Given the description of an element on the screen output the (x, y) to click on. 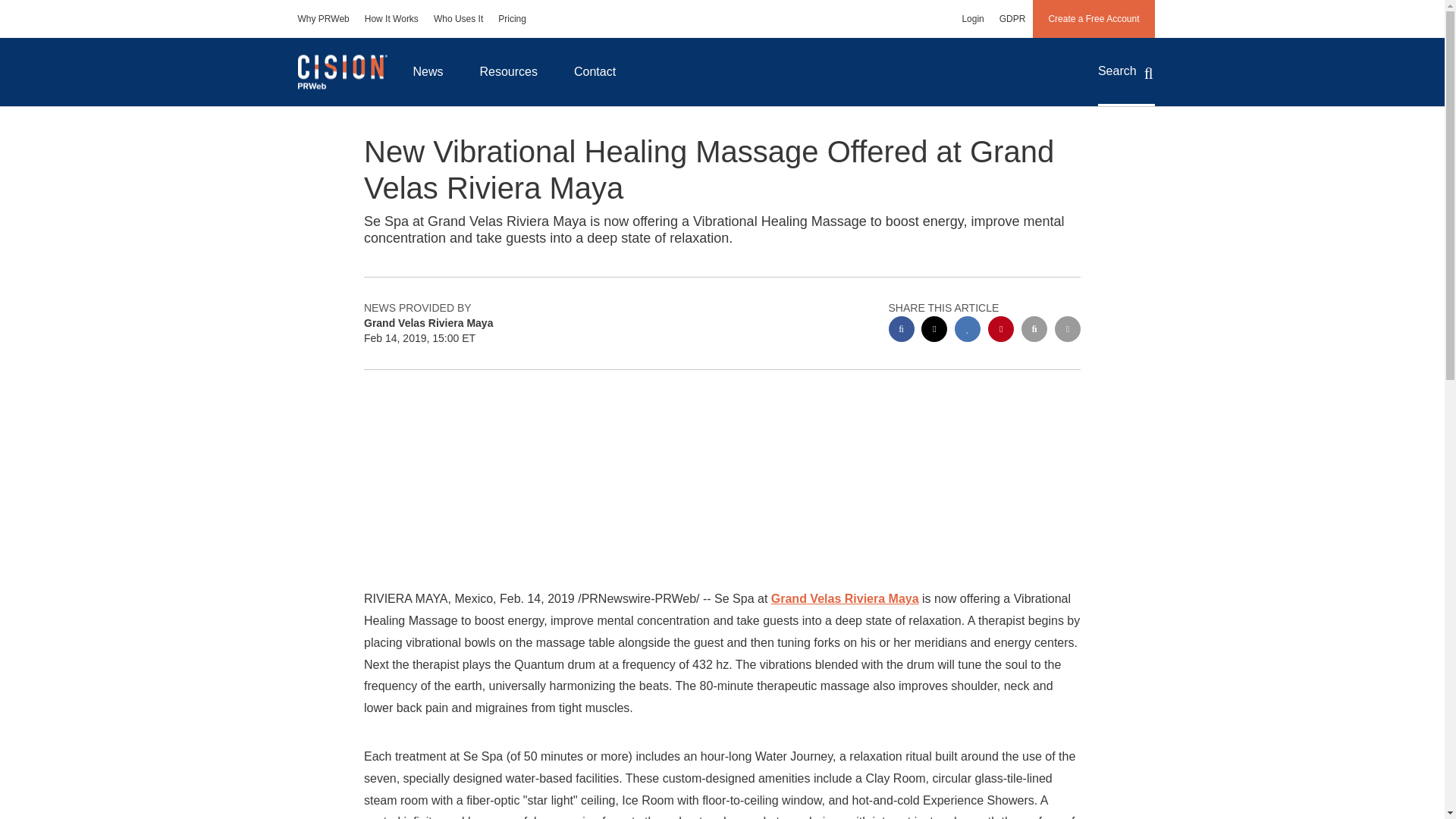
Pricing (512, 18)
News (427, 71)
Contact (594, 71)
Create a Free Account (1093, 18)
Login (972, 18)
Who Uses It (458, 18)
Why PRWeb (322, 18)
Resources (508, 71)
GDPR (1012, 18)
